Given the description of an element on the screen output the (x, y) to click on. 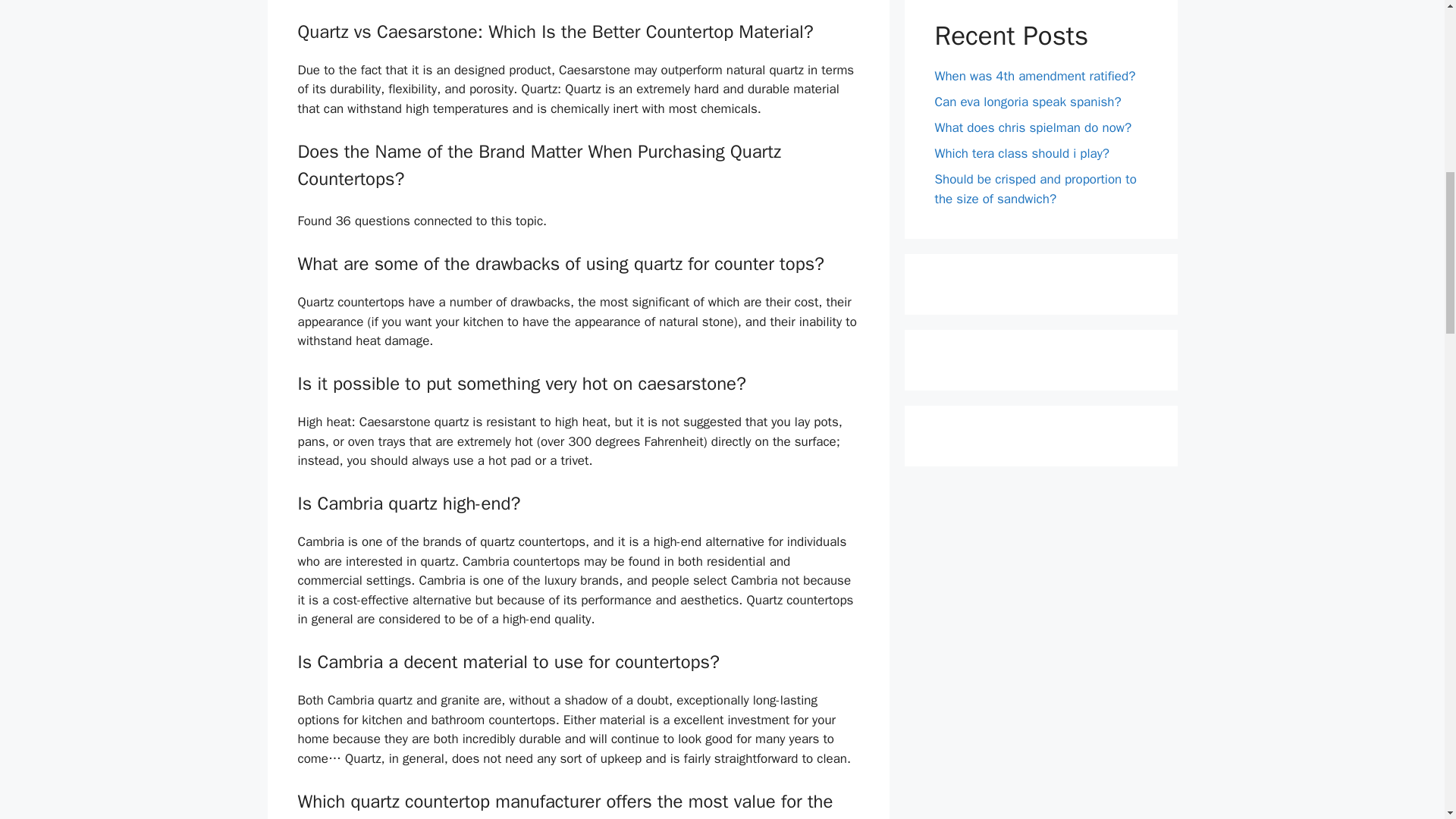
When was 4th amendment ratified? (1034, 75)
What does chris spielman do now? (1032, 127)
Can eva longoria speak spanish? (1027, 101)
Should be crisped and proportion to the size of sandwich? (1034, 189)
Which tera class should i play? (1021, 153)
